Given the description of an element on the screen output the (x, y) to click on. 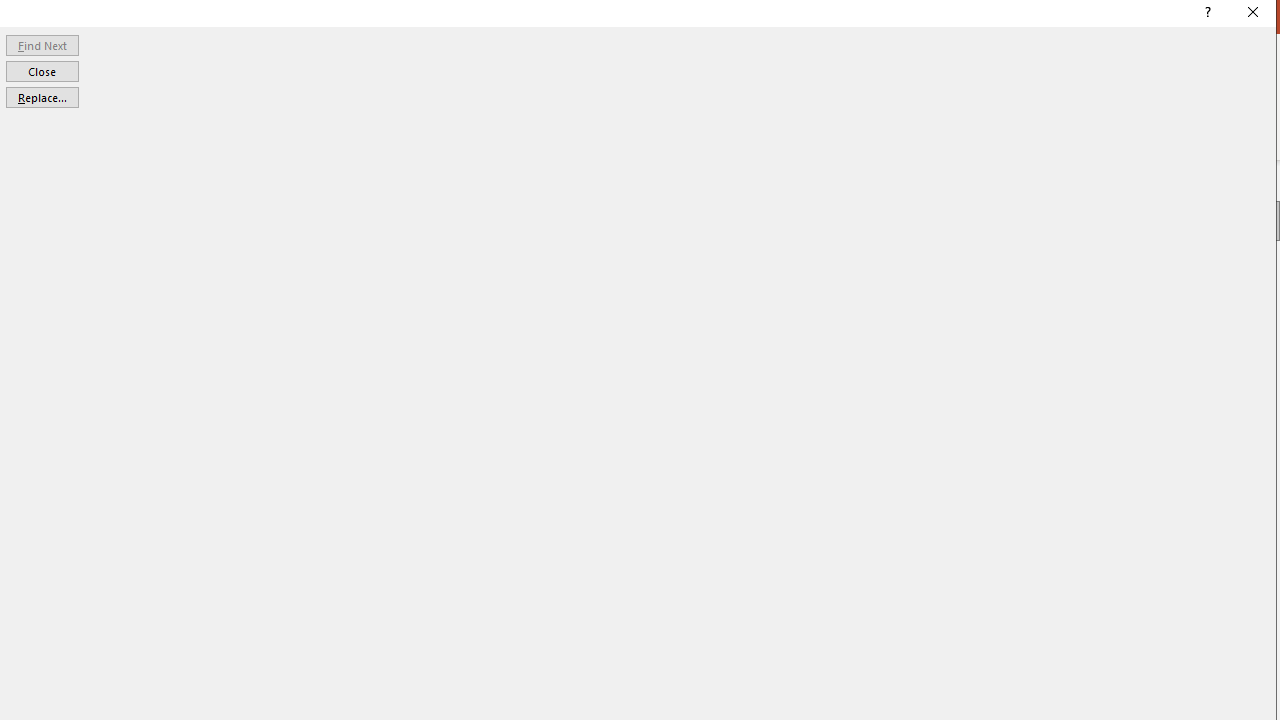
Find Next (42, 44)
